Given the description of an element on the screen output the (x, y) to click on. 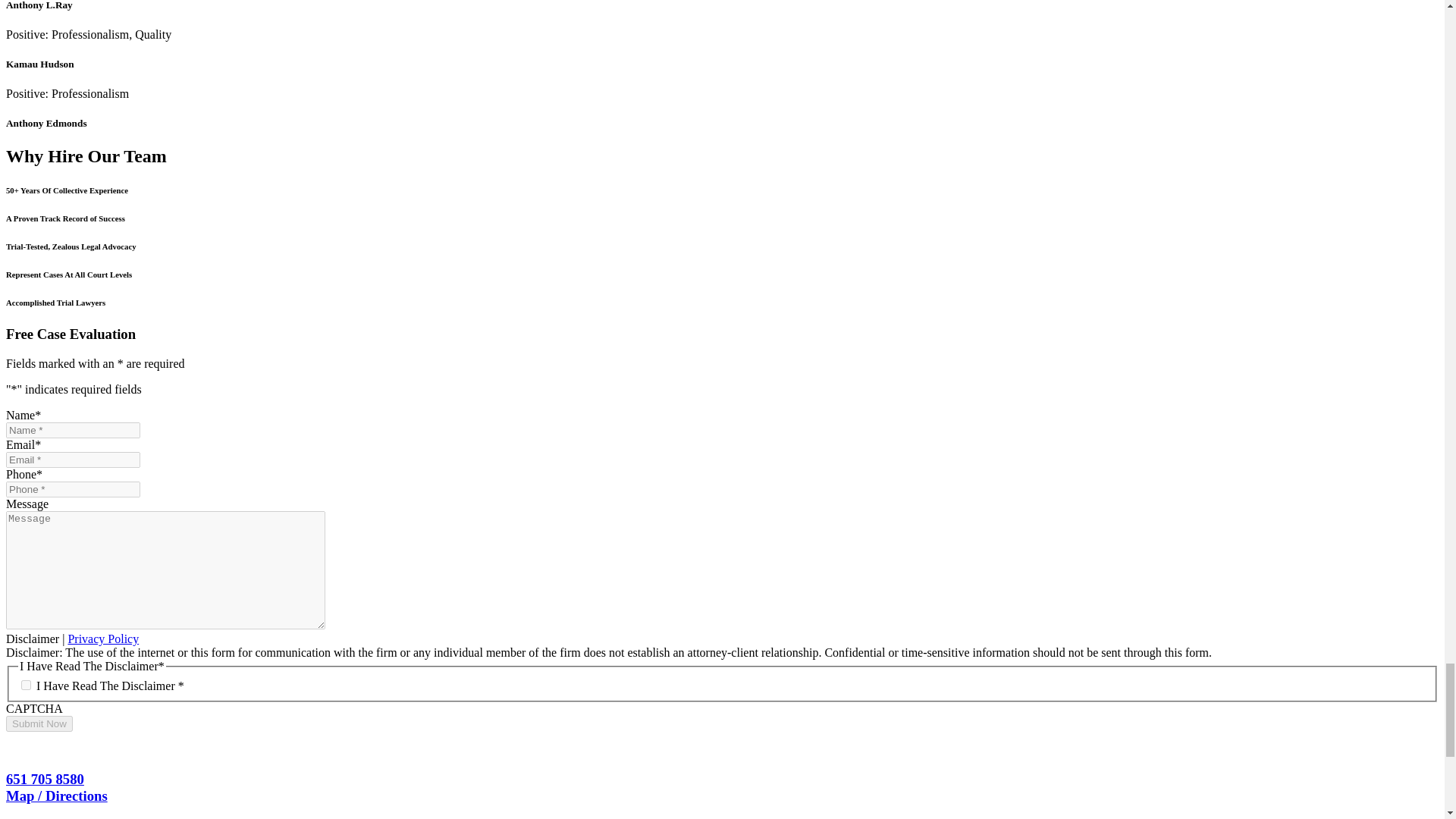
Submit Now (38, 723)
